Given the description of an element on the screen output the (x, y) to click on. 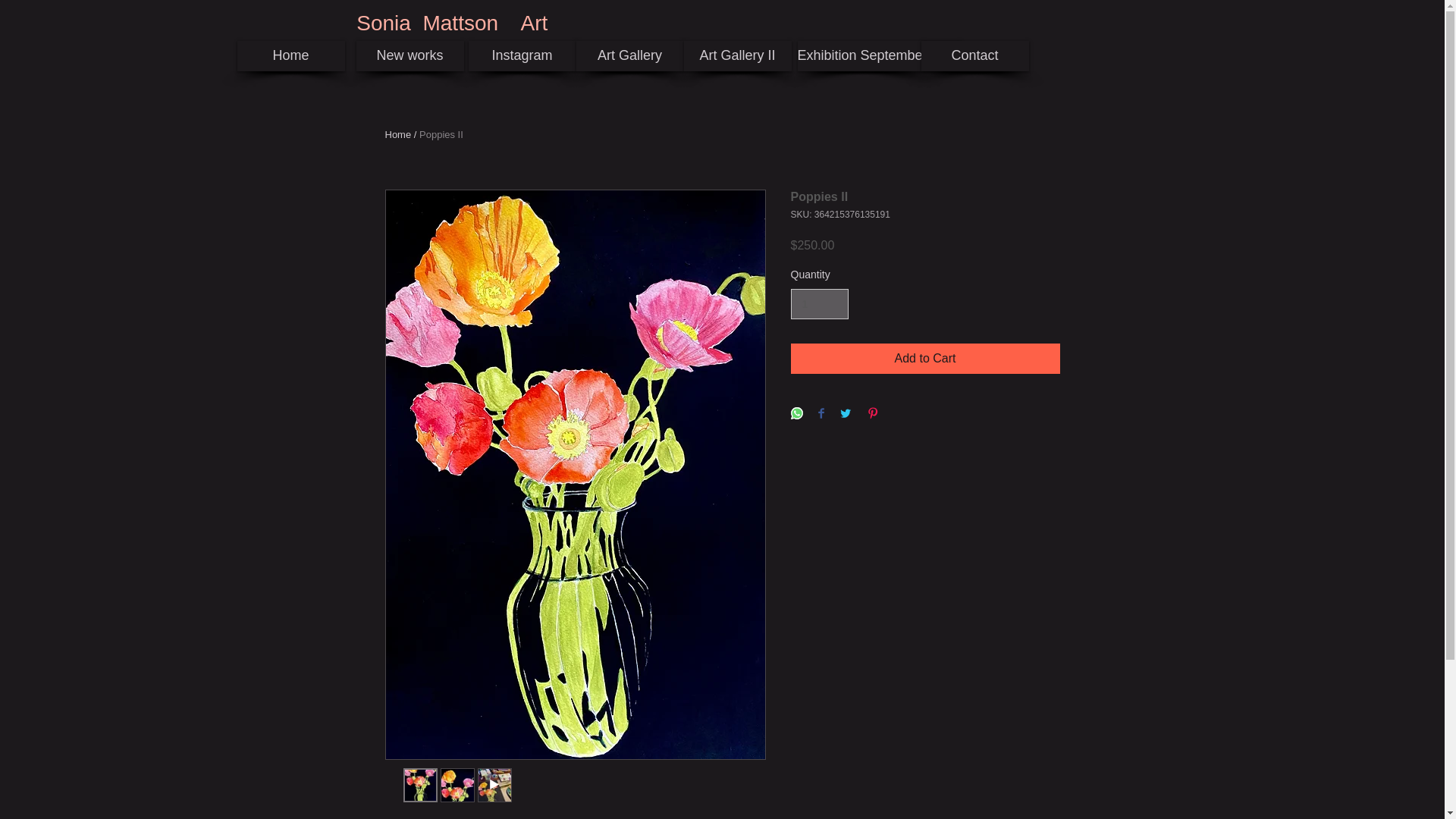
Add to Cart (924, 358)
Contact (973, 55)
Home (289, 55)
Home (398, 134)
Poppies II (441, 134)
Art Gallery II (738, 55)
Instagram (522, 55)
New works (410, 55)
Exhibition September 2024 (878, 55)
1 (818, 304)
